Given the description of an element on the screen output the (x, y) to click on. 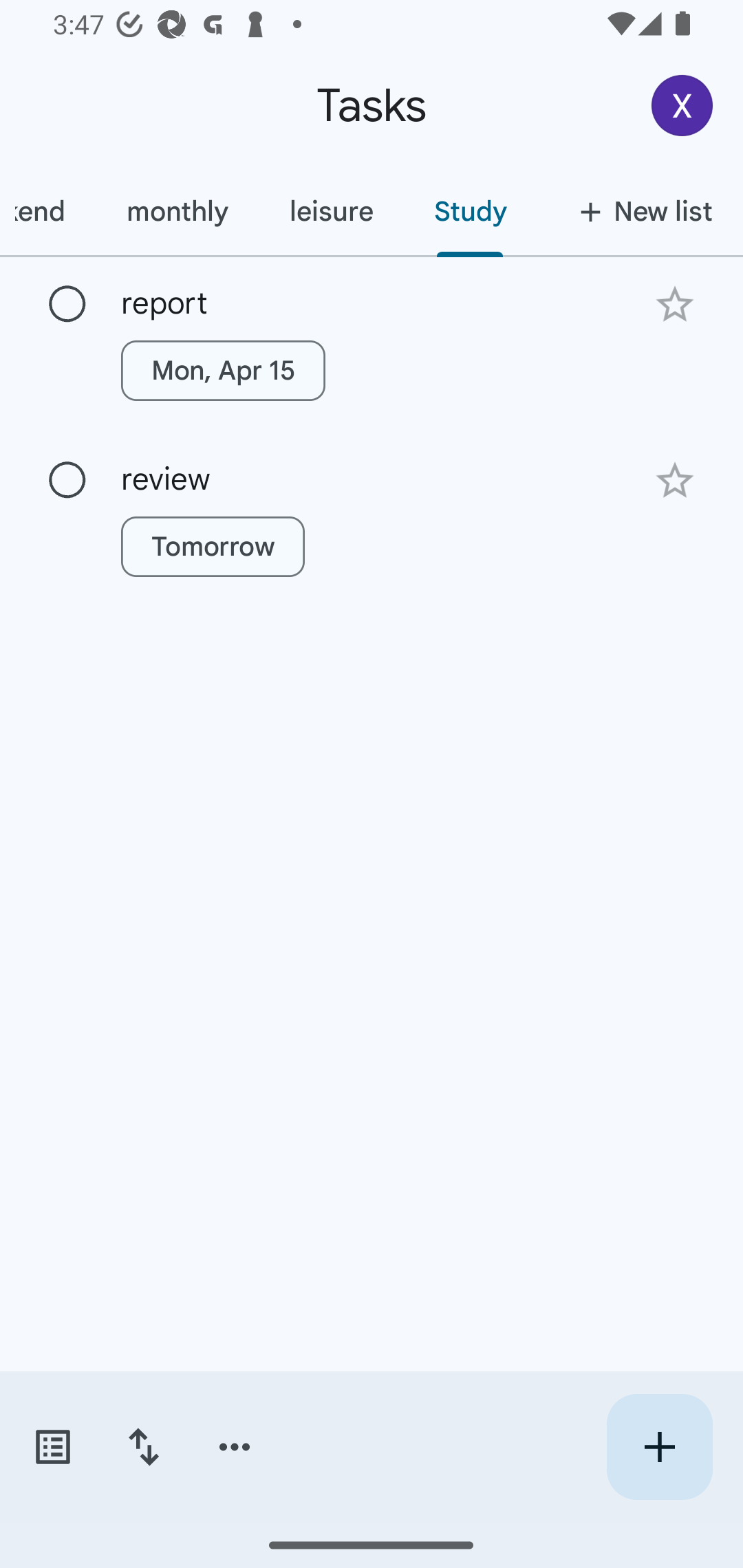
weekend (47, 211)
monthly (176, 211)
leisure (330, 211)
New list (640, 211)
Add star (674, 303)
Mark as complete (67, 304)
Mon, Apr 15 (223, 369)
Add star (674, 480)
Mark as complete (67, 480)
Tomorrow (212, 546)
Switch task lists (52, 1447)
Create new task (659, 1446)
Change sort order (143, 1446)
More options (234, 1446)
